Given the description of an element on the screen output the (x, y) to click on. 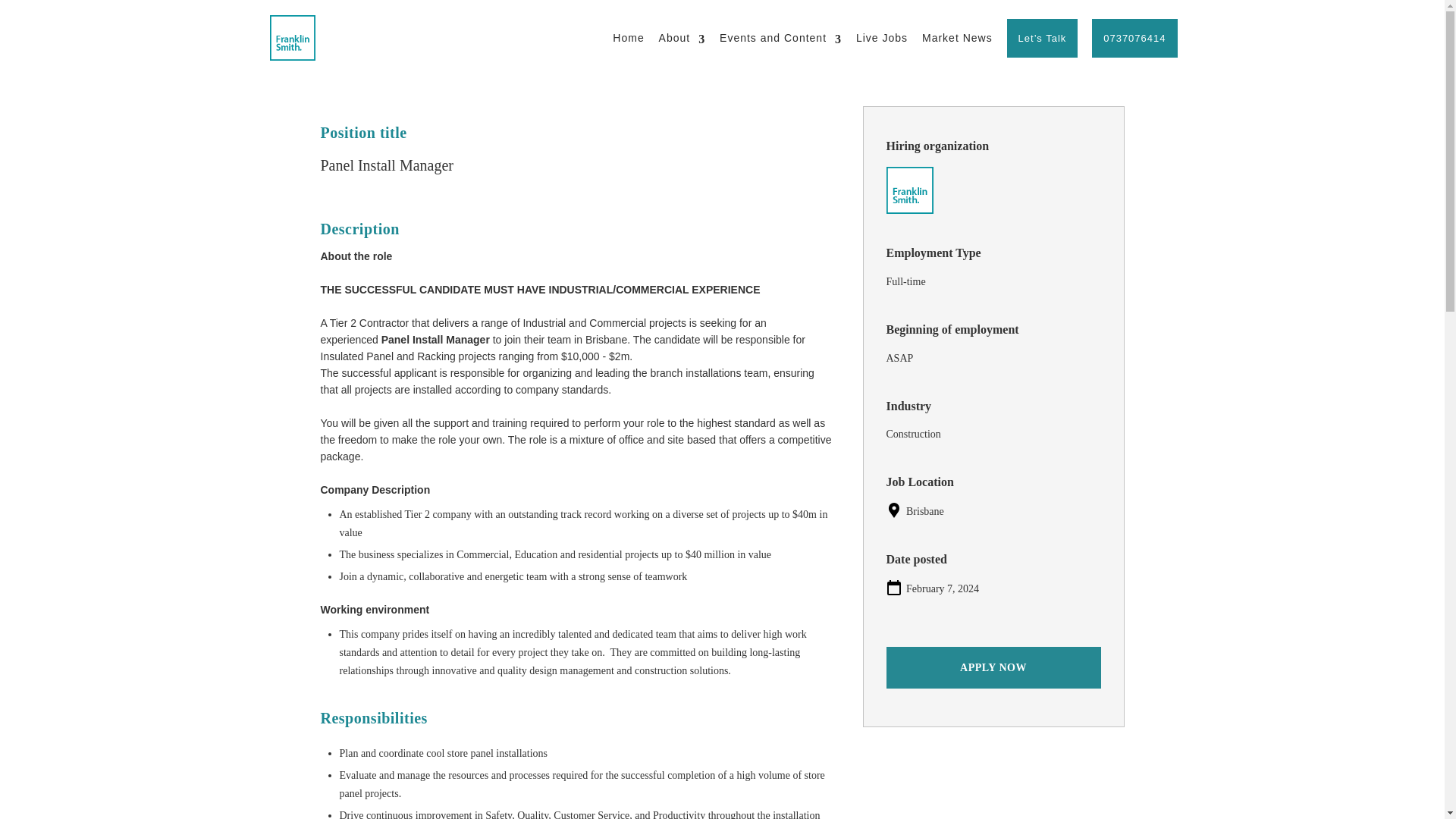
Market News (956, 37)
Live Jobs (881, 37)
Franklin Smith Australia (909, 190)
APPLY NOW (992, 667)
About (682, 37)
Home (627, 37)
0737076414 (1134, 37)
Events and Content (780, 37)
